Given the description of an element on the screen output the (x, y) to click on. 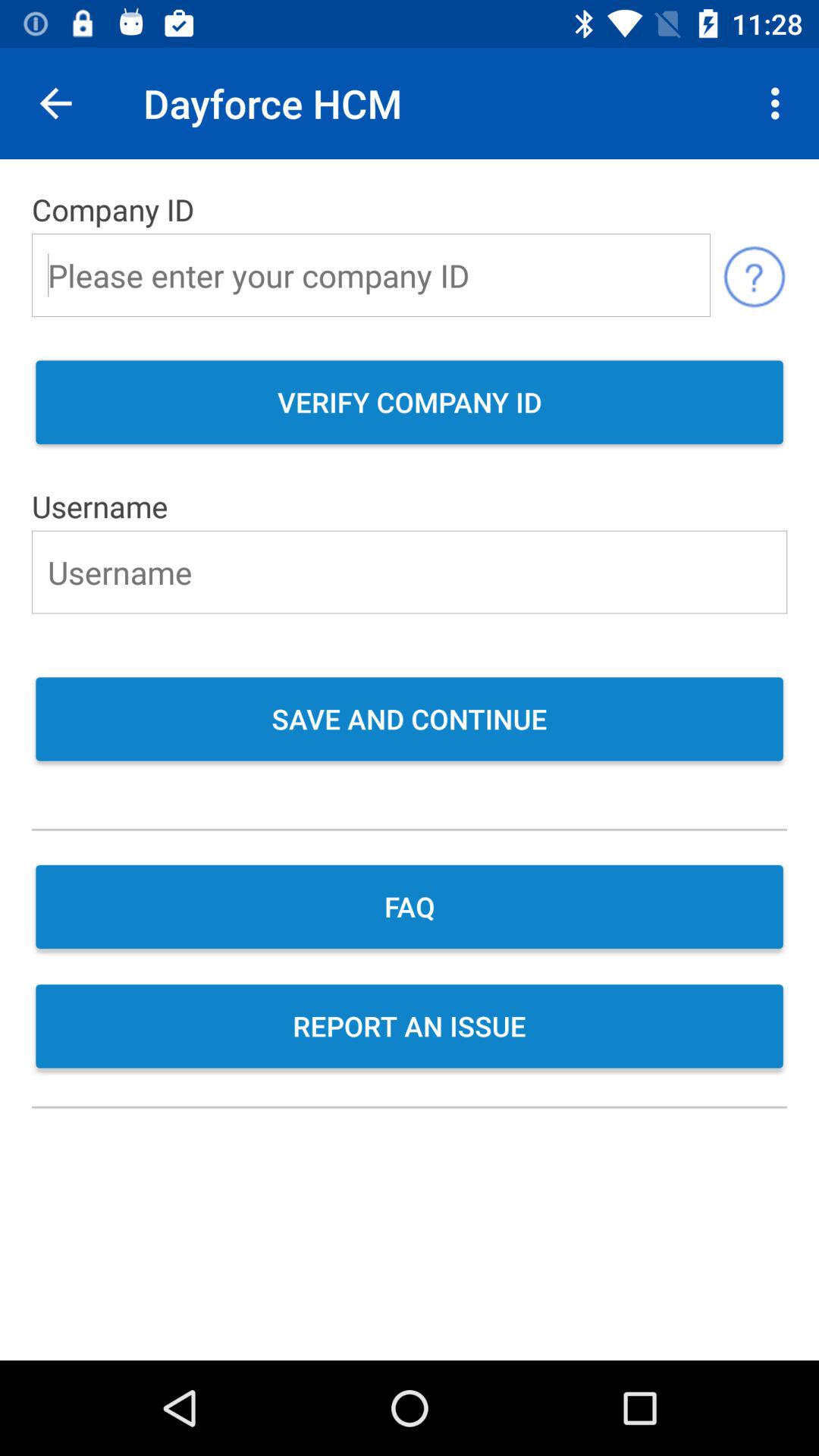
turn on icon below company id (753, 274)
